Given the description of an element on the screen output the (x, y) to click on. 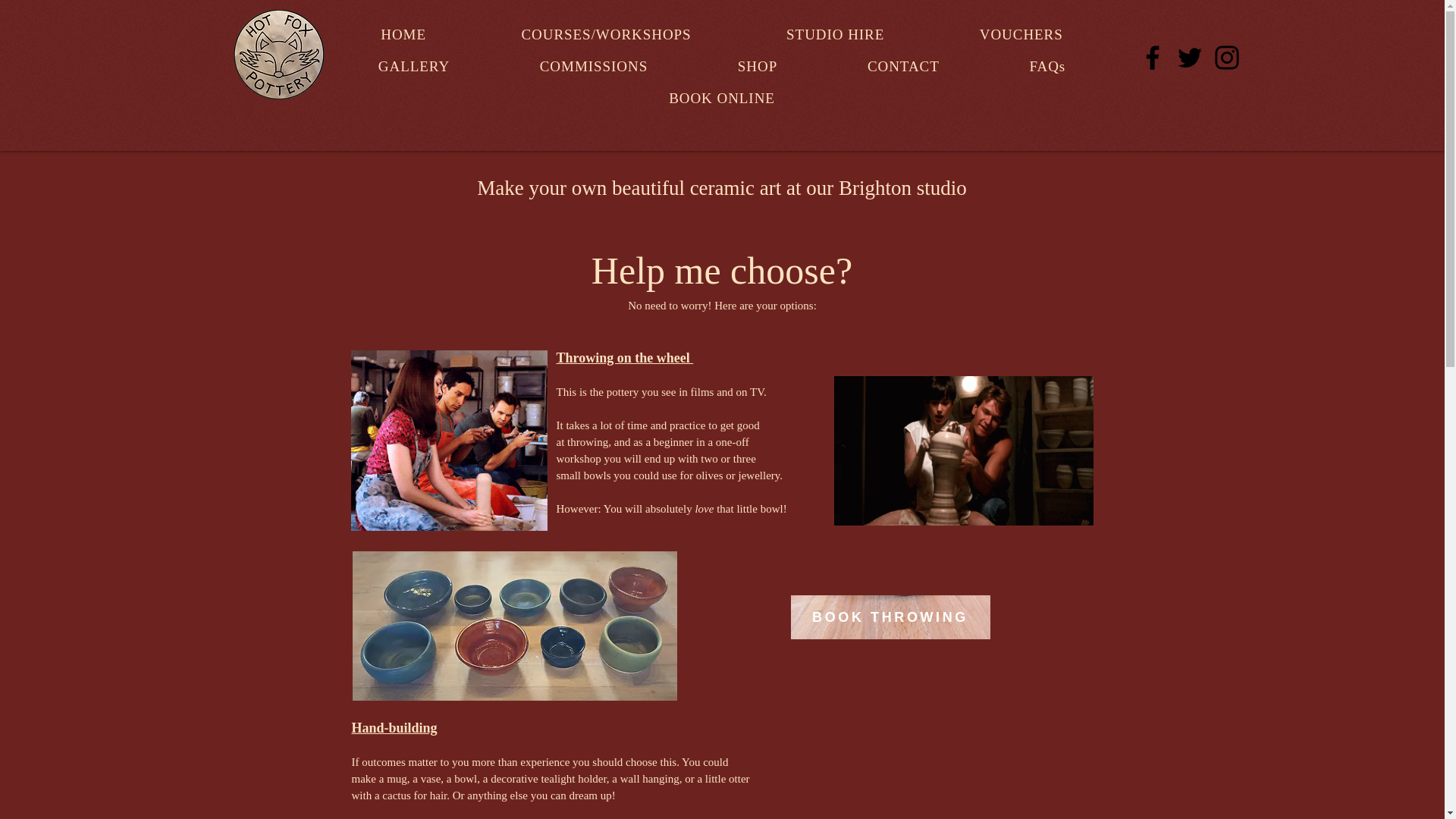
GALLERY (414, 66)
BOOK ONLINE (722, 98)
Hand-building (395, 727)
CONTACT (904, 66)
STUDIO HIRE (834, 34)
BOOK THROWING (890, 617)
SHOP (757, 66)
Throwing on the wheel  (625, 358)
FAQs (1047, 66)
HOME (403, 34)
VOUCHERS (1021, 34)
COMMISSIONS (593, 66)
